Given the description of an element on the screen output the (x, y) to click on. 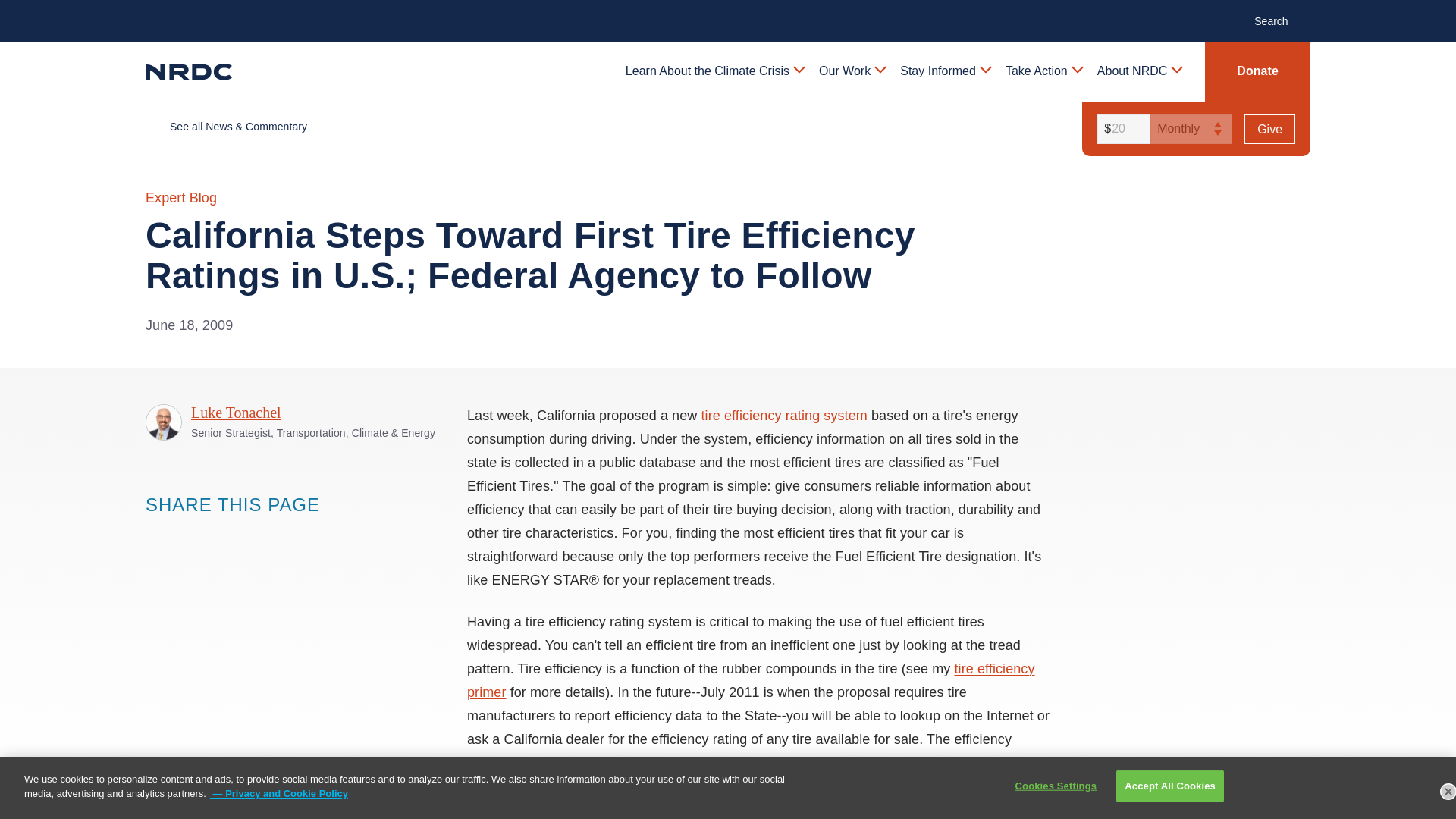
Search (1278, 19)
Learn About the Climate Crisis (714, 71)
Share this page block (216, 533)
Share this page block (156, 533)
Share this page block (186, 533)
20 (1120, 128)
Skip to main content (727, 12)
Stay Informed (944, 71)
Our Work (850, 71)
